Given the description of an element on the screen output the (x, y) to click on. 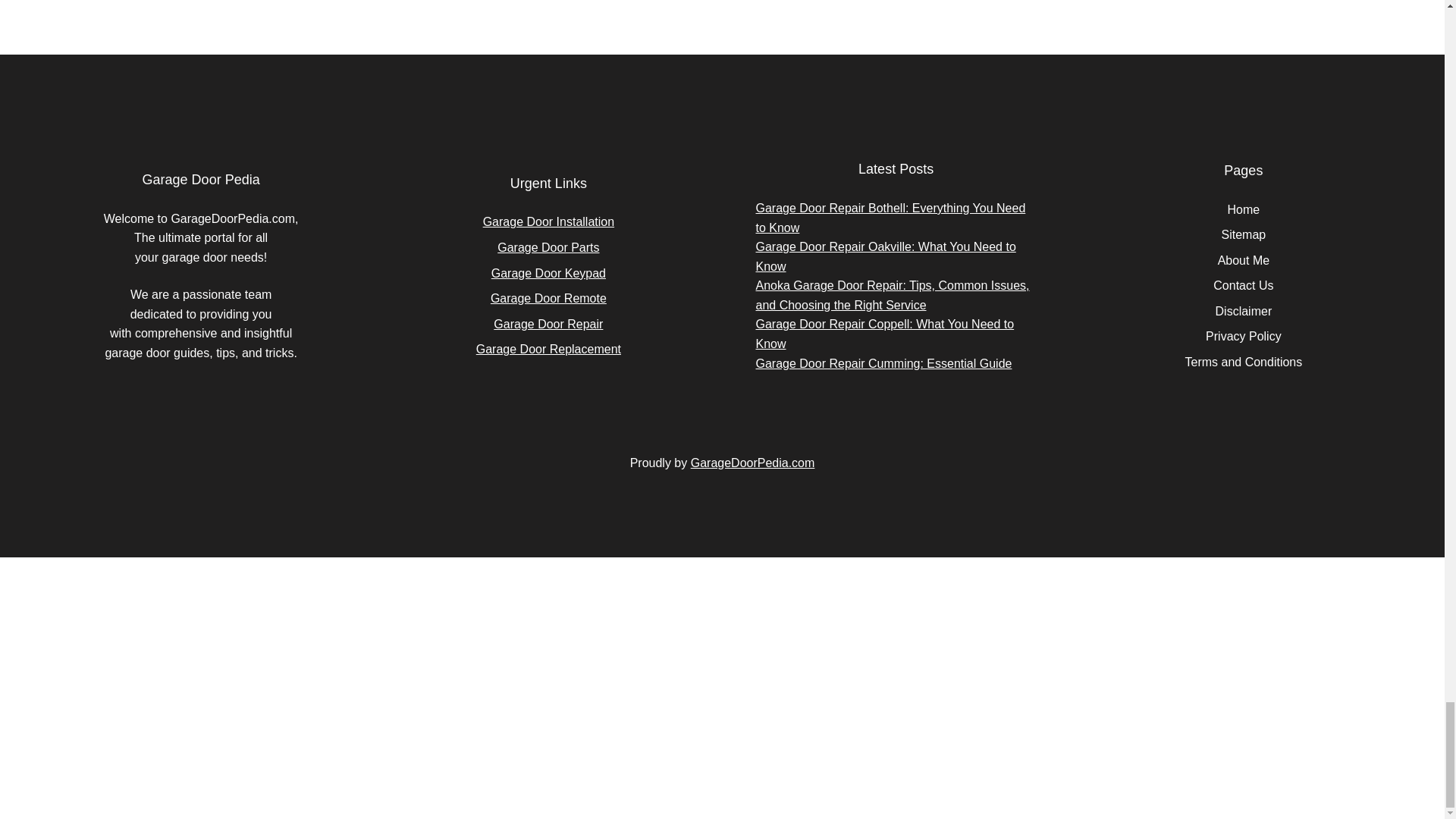
Garage Door Repair (547, 323)
Garage Door Parts (547, 246)
Garage Door Remote (548, 297)
Garage Door Installation (548, 221)
Garage Door Replacement (548, 349)
Garage Door Keypad (548, 273)
